Given the description of an element on the screen output the (x, y) to click on. 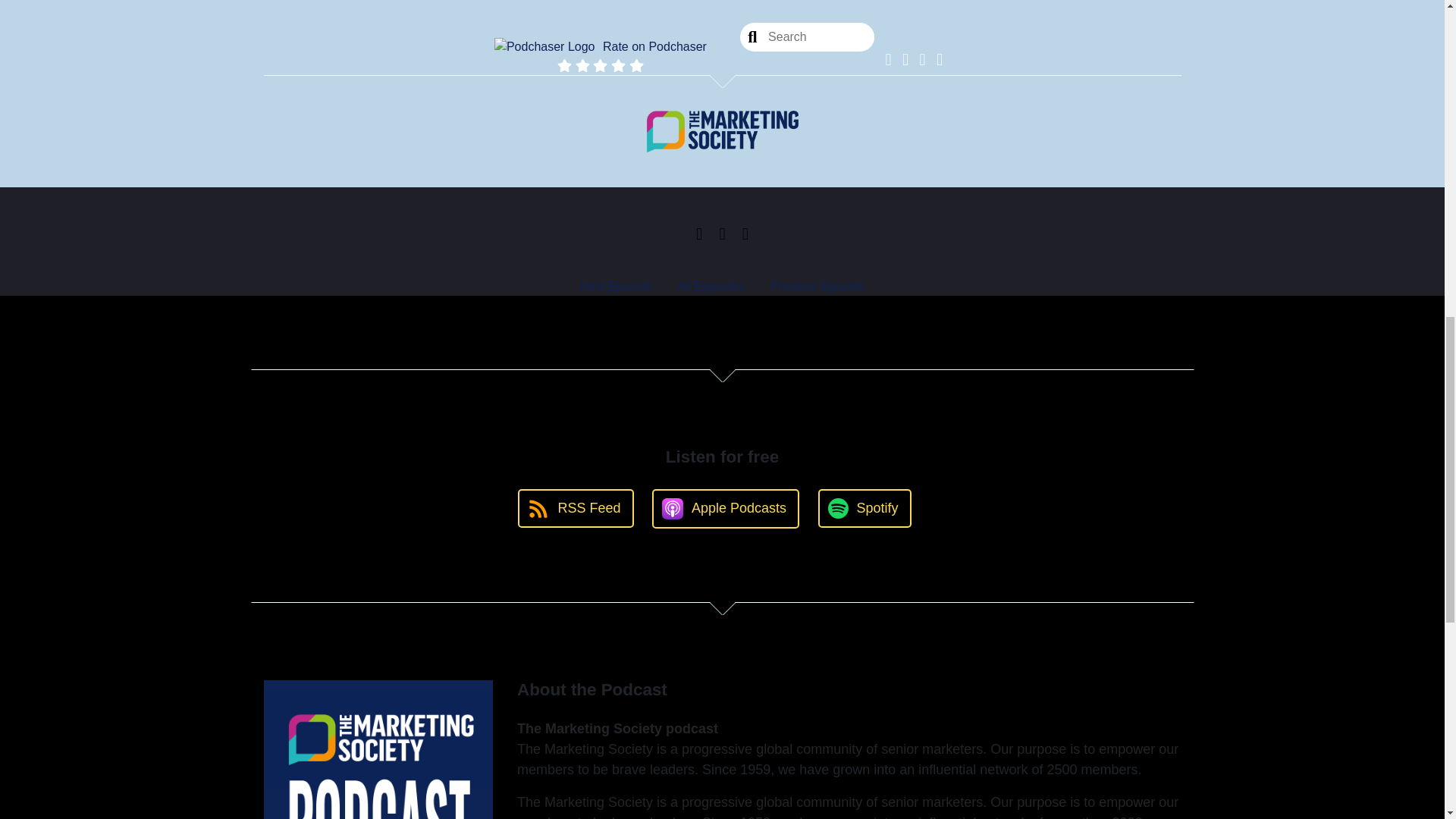
RSS Feed (575, 507)
All Episodes (710, 286)
www.thewholemarketer.com (446, 174)
Previous Episode (817, 286)
Spotify (863, 507)
Next Episode (615, 286)
Apple Podcasts (725, 508)
